Given the description of an element on the screen output the (x, y) to click on. 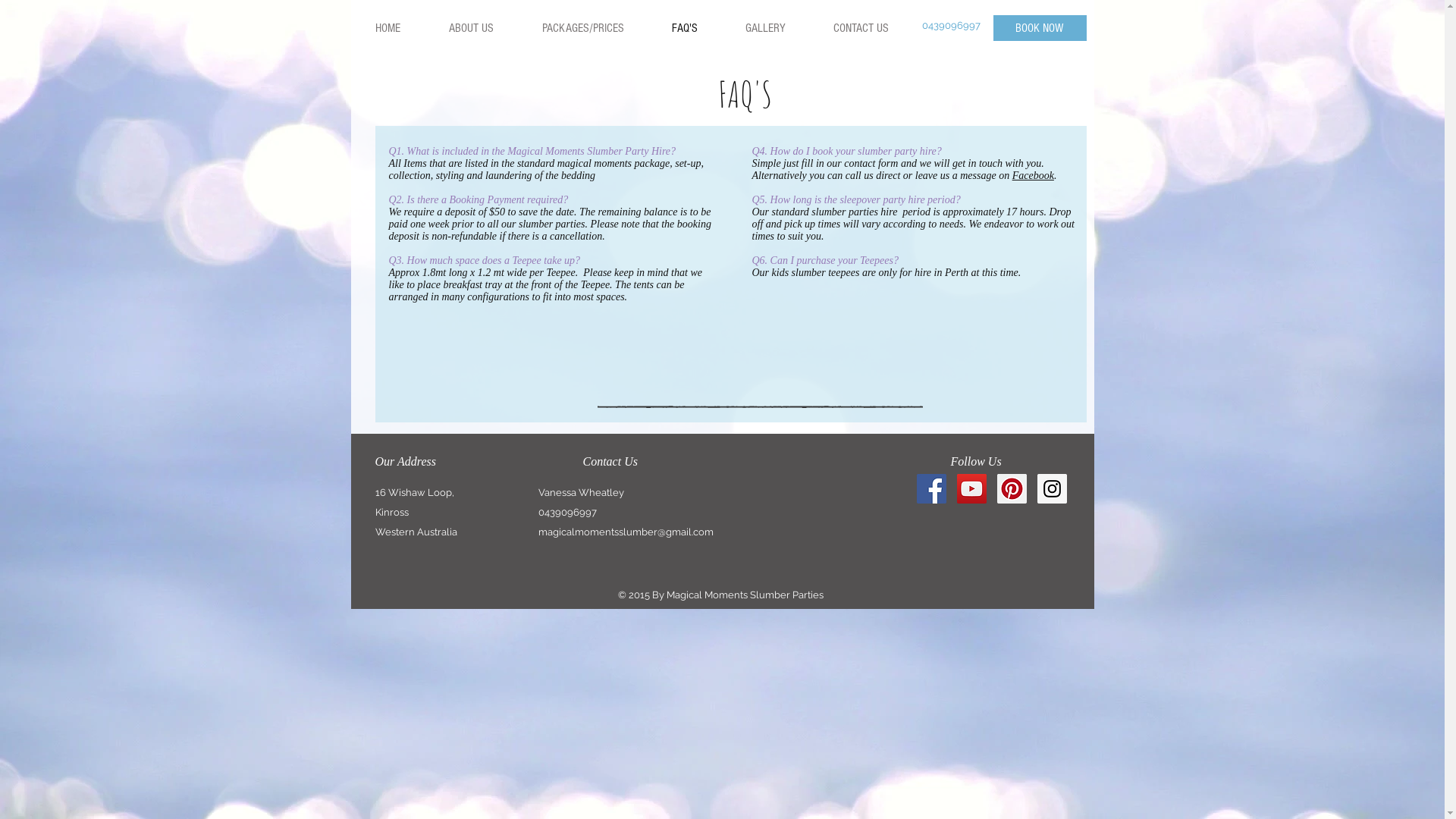
GALLERY Element type: text (764, 27)
0439096997 Element type: text (951, 25)
ABOUT US Element type: text (470, 27)
magicalmomentsslumber@gmail.com Element type: text (625, 531)
PACKAGES/PRICES Element type: text (581, 27)
CONTACT US Element type: text (859, 27)
Facebook Element type: text (1033, 175)
BOOK NOW Element type: text (1039, 27)
HOME Element type: text (387, 27)
FAQ'S Element type: text (684, 27)
